Given the description of an element on the screen output the (x, y) to click on. 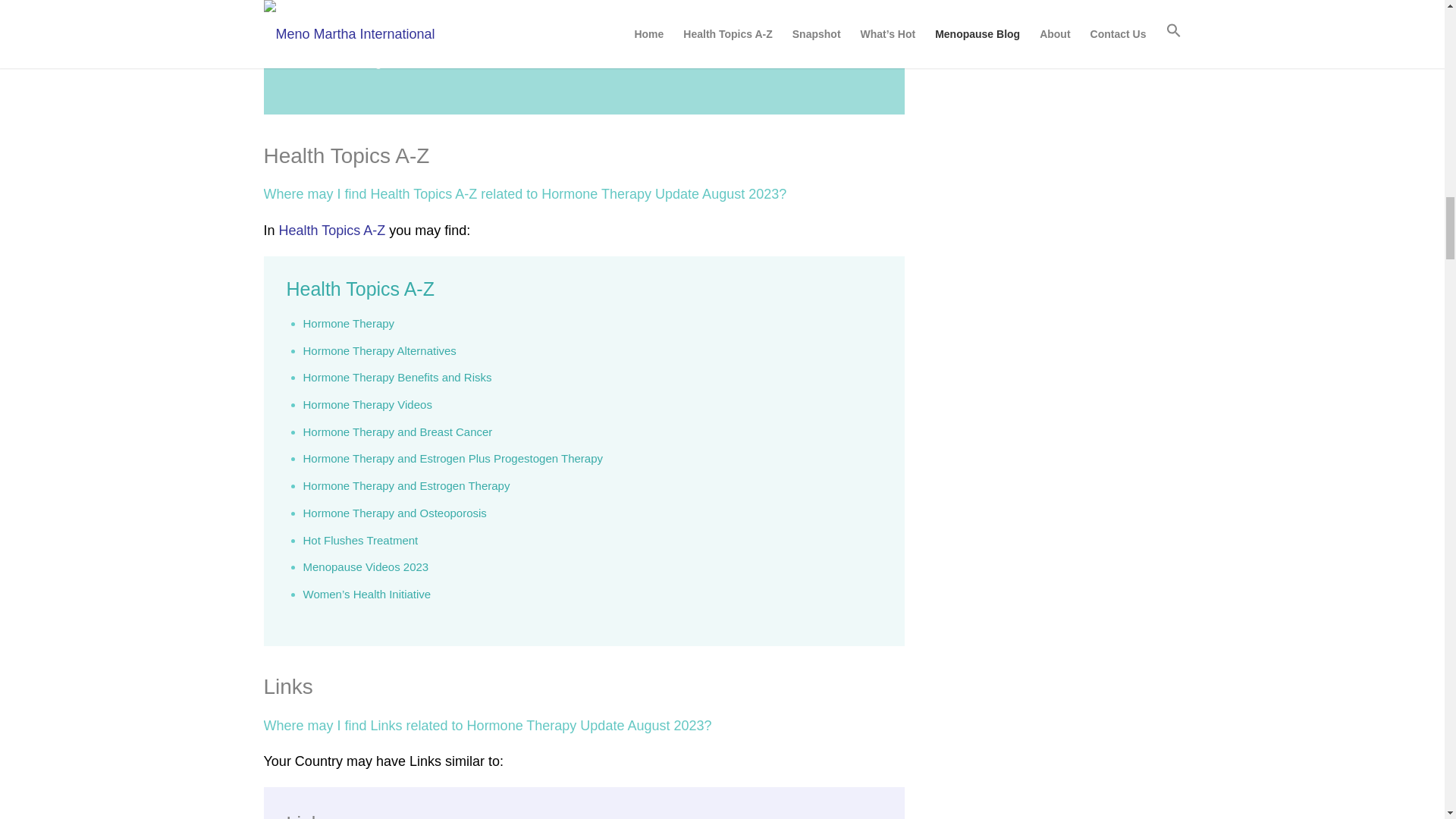
Health Topics A-Z (359, 288)
Hormone Therapy Benefits and Risks (397, 377)
Hormone Therapy and Breast Cancer (397, 431)
Hormone Therapy (348, 323)
Hormone Therapy and Estrogen Therapy (406, 485)
Hormone Therapy and Estrogen Plus Progestogen Therapy (453, 458)
Hot Flushes Treatment (360, 540)
Hormone Therapy Alternatives (379, 350)
Hormone Therapy Videos (367, 404)
Menopause Videos 2023 (365, 566)
